Given the description of an element on the screen output the (x, y) to click on. 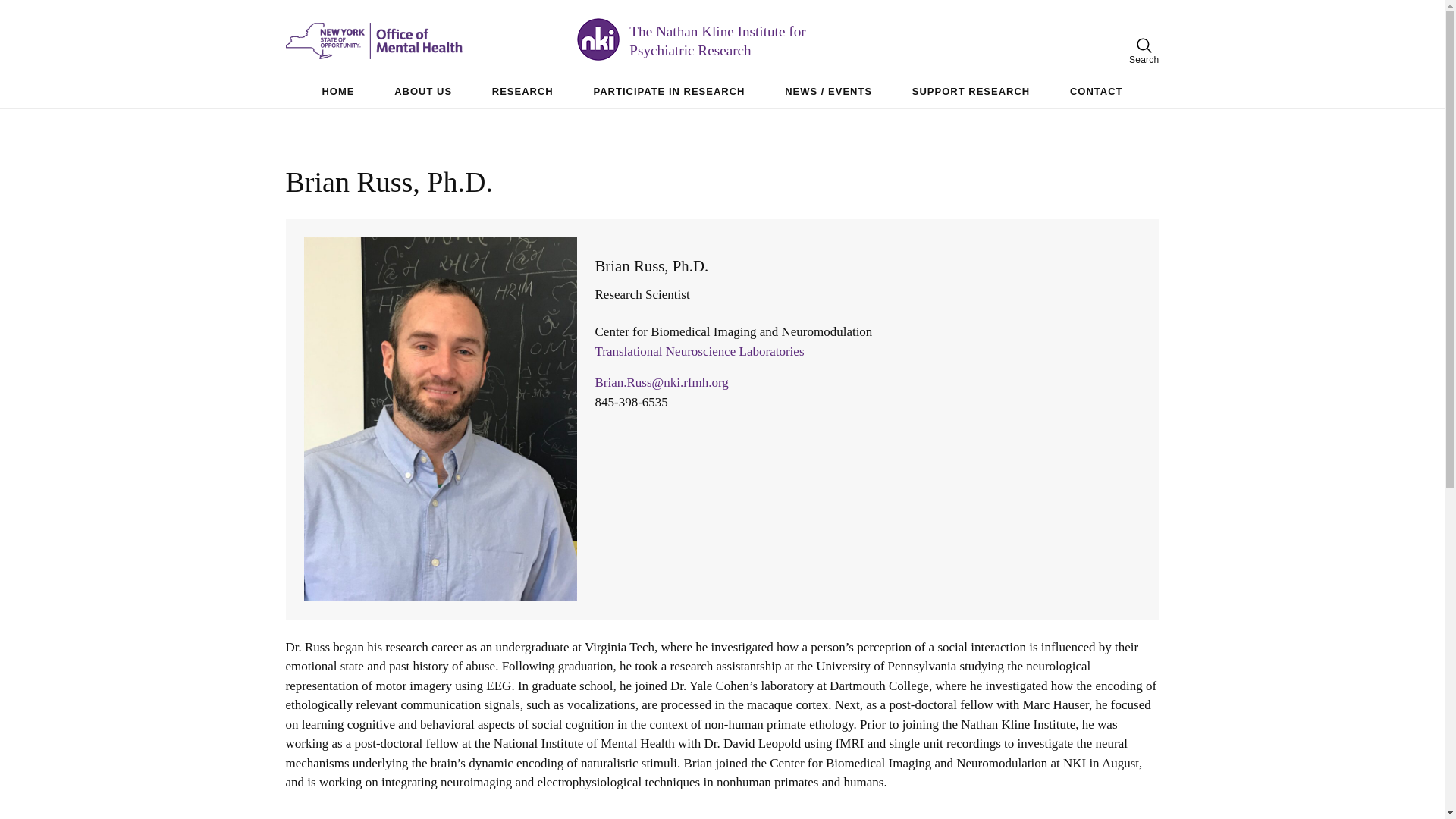
RESEARCH (522, 91)
The Nathan Kline Institute for Psychiatric Research (430, 40)
SUPPORT RESEARCH (970, 91)
Translational Neuroscience Laboratories (698, 350)
HOME (337, 91)
The Nathan Kline Institute for Psychiatric Research (747, 42)
PARTICIPATE IN RESEARCH (668, 91)
The Nathan Kline Institute for Psychiatric Research (747, 42)
Search (1143, 51)
ABOUT US (422, 91)
CONTACT (1096, 91)
